Given the description of an element on the screen output the (x, y) to click on. 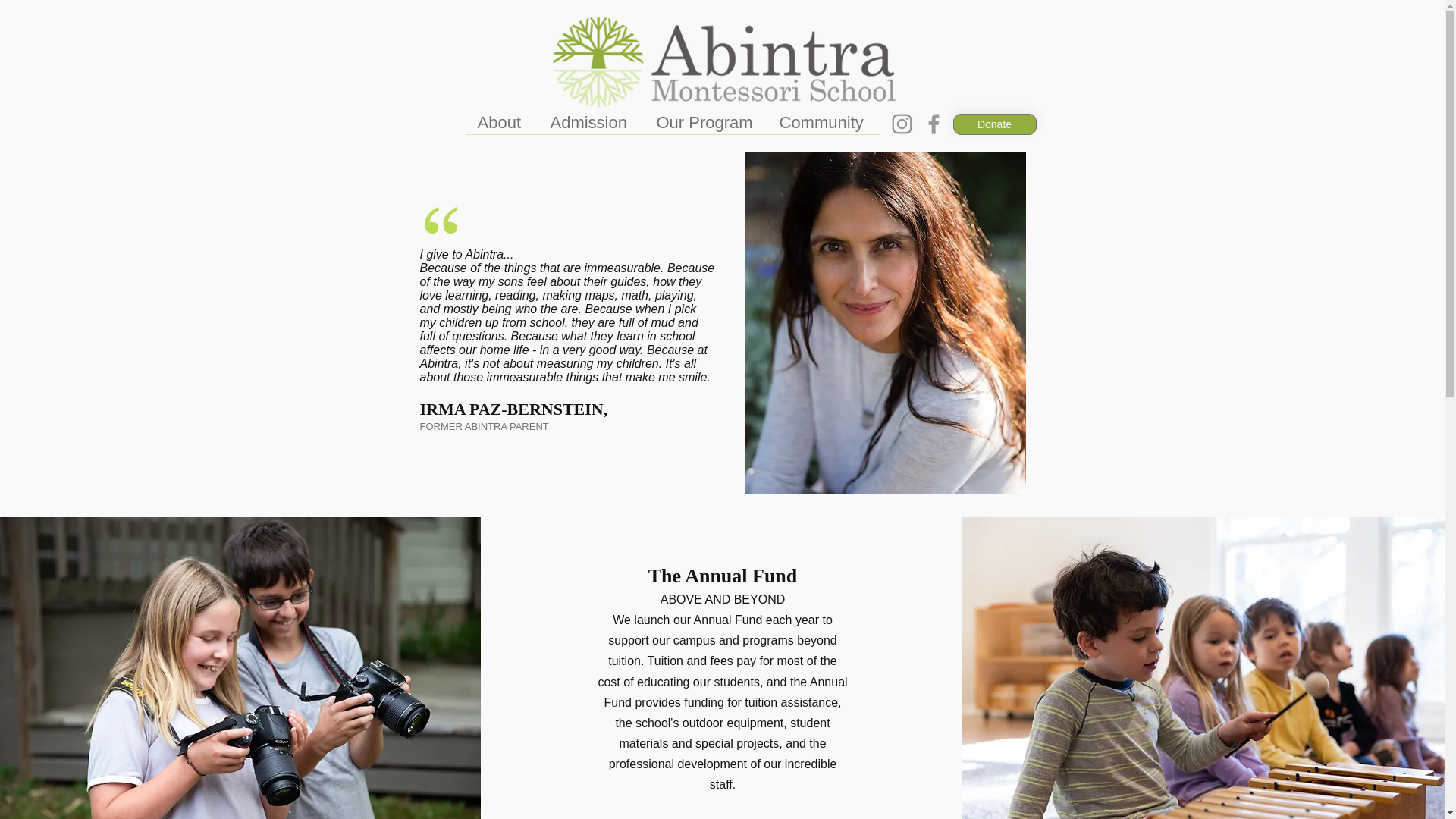
Donate (993, 124)
